Given the description of an element on the screen output the (x, y) to click on. 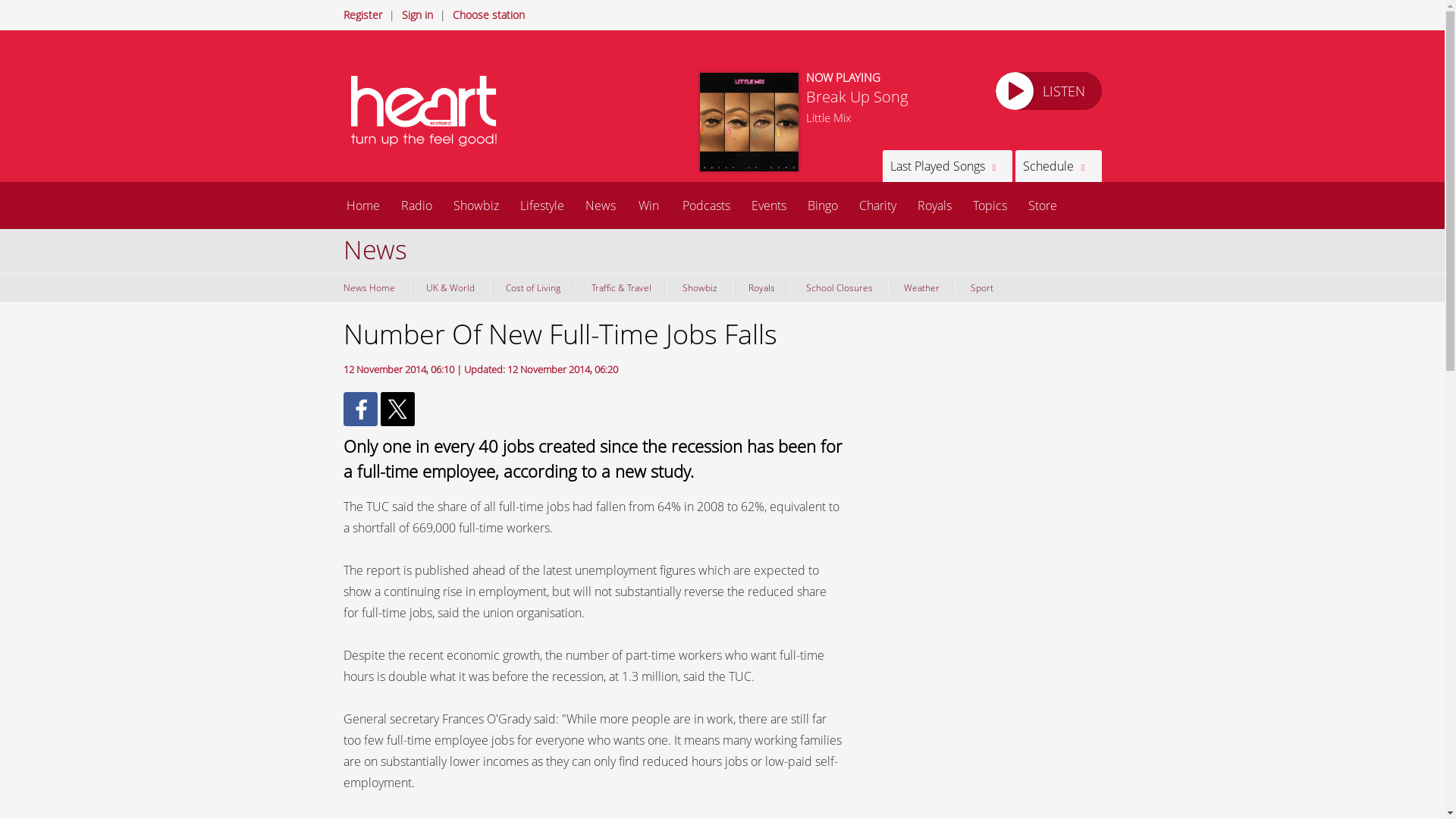
Win (648, 205)
Choose station (487, 14)
Register (361, 14)
Podcasts (706, 205)
Store (1042, 205)
Showbiz (698, 287)
Royals (934, 205)
Bingo (821, 205)
Sign in (416, 14)
LISTEN (1047, 90)
Radio (416, 205)
Showbiz (475, 205)
Topics (988, 205)
Cost of Living (532, 287)
